Given the description of an element on the screen output the (x, y) to click on. 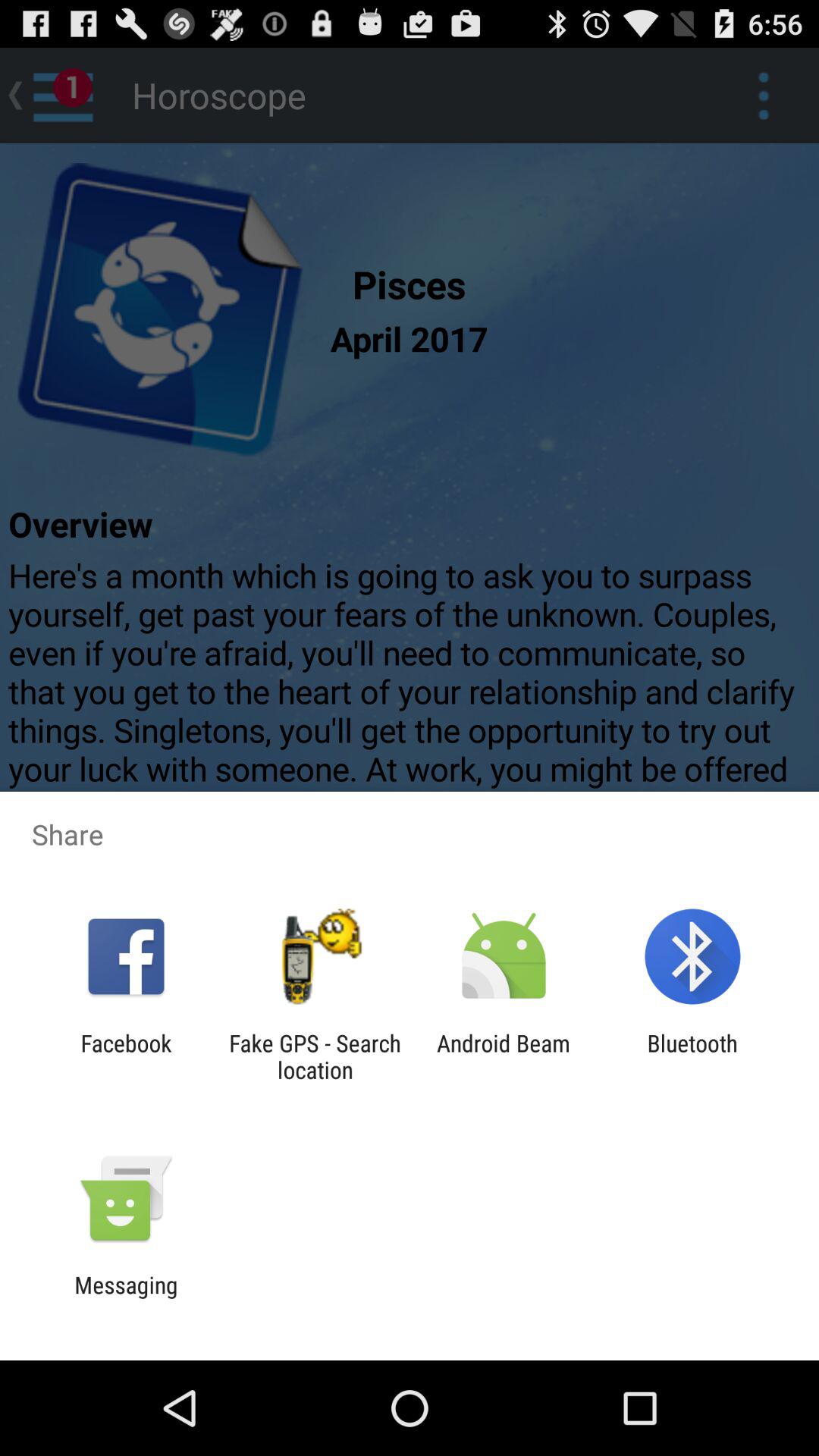
press the item next to the facebook icon (314, 1056)
